Given the description of an element on the screen output the (x, y) to click on. 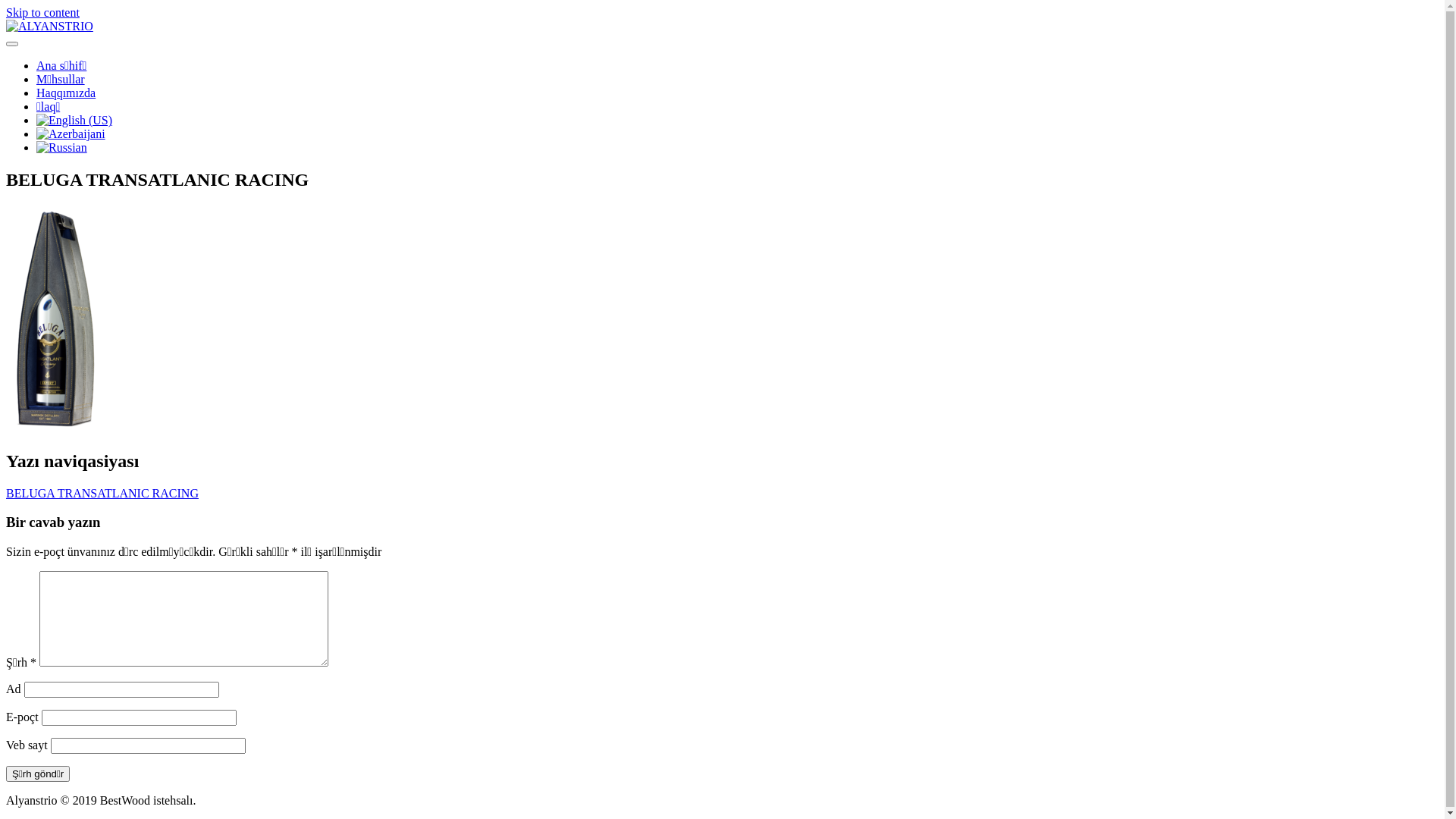
BELUGA TRANSATLANIC RACING Element type: text (102, 492)
Skip to content Element type: text (42, 12)
